Given the description of an element on the screen output the (x, y) to click on. 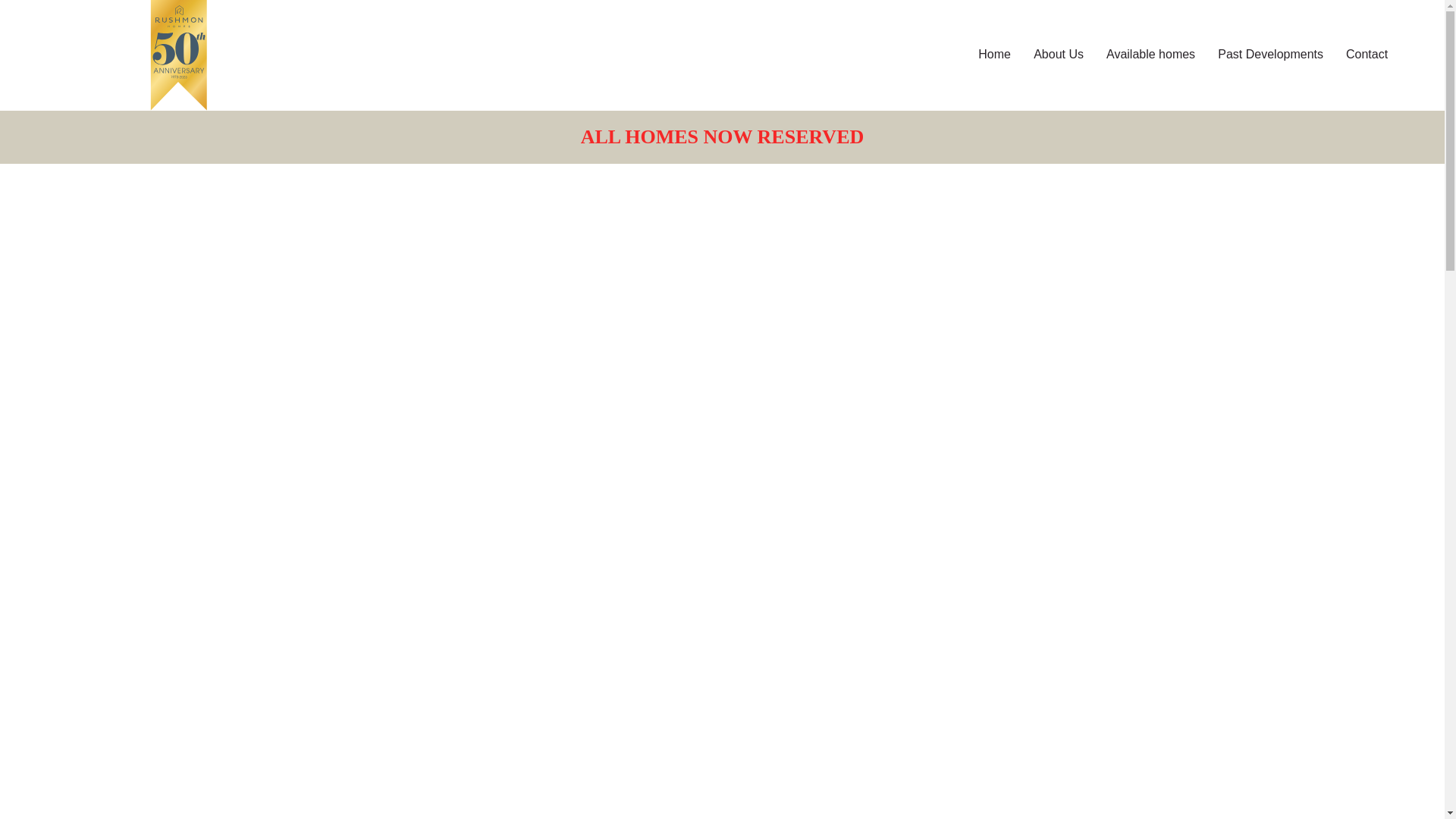
Past Developments (1271, 53)
Available homes (1150, 53)
About Us (1058, 53)
Home (994, 53)
Contact (1367, 53)
